Given the description of an element on the screen output the (x, y) to click on. 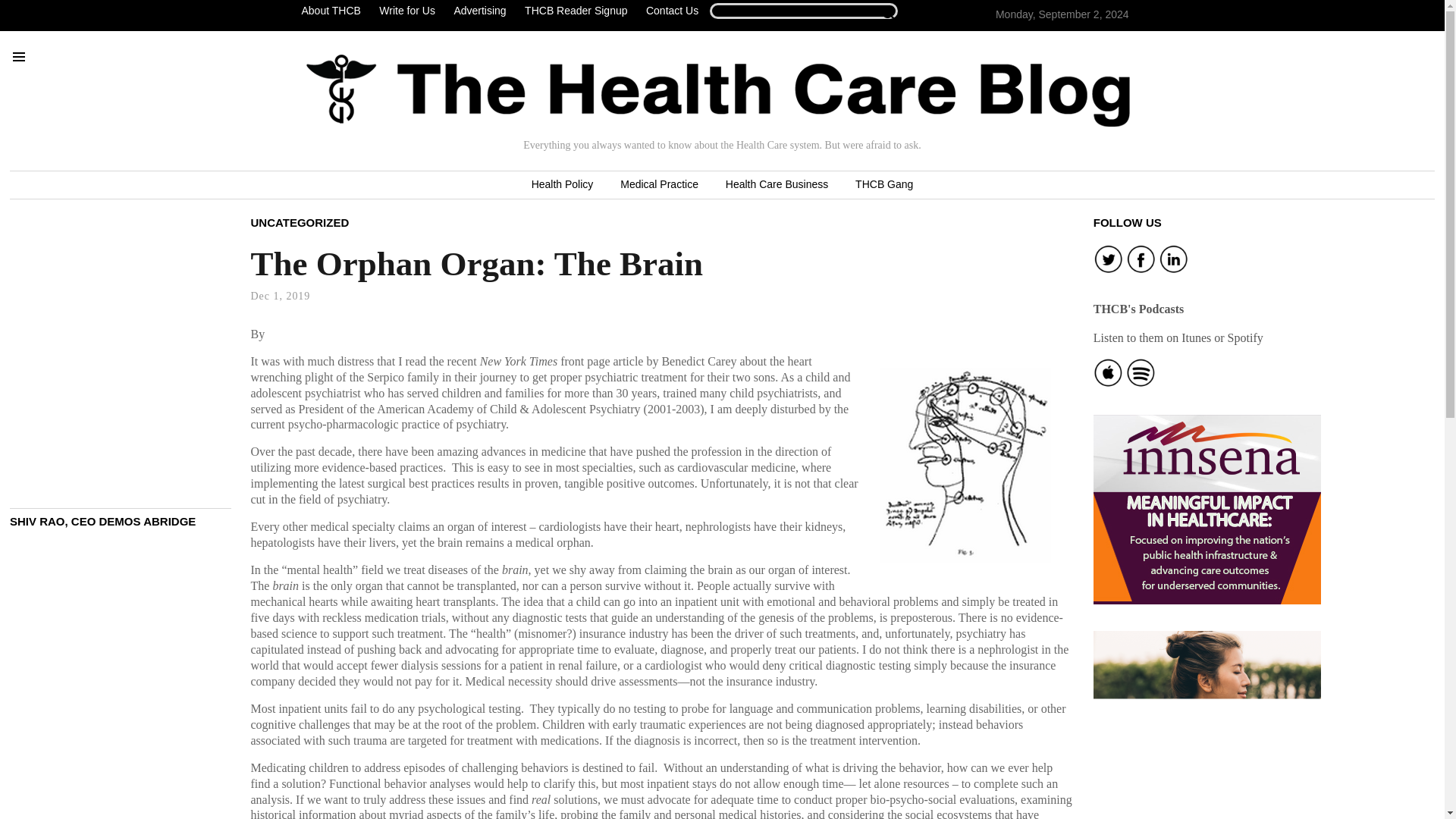
Contact Us (672, 10)
About THCB (334, 10)
Advertising (479, 10)
Write for Us (406, 10)
Home (718, 90)
Health Policy (562, 184)
THCB Gang (883, 184)
Health Care Business (776, 184)
UNCATEGORIZED (299, 221)
Medical Practice (659, 184)
